Given the description of an element on the screen output the (x, y) to click on. 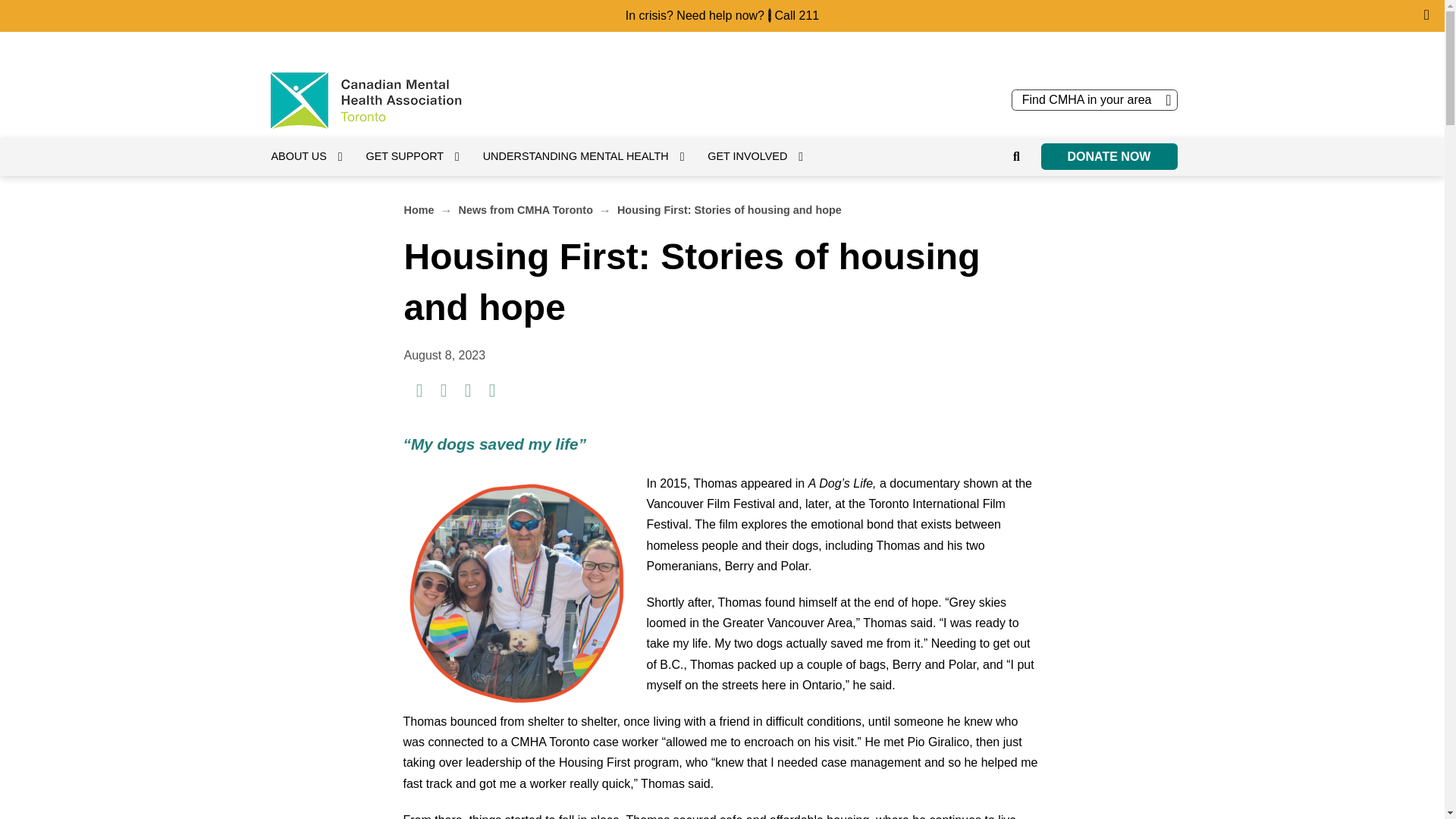
Call 211 (796, 15)
GET INVOLVED (762, 156)
GET SUPPORT (420, 156)
News from CMHA Toronto (525, 210)
Home (418, 210)
You Are Here (729, 210)
Housing First: Stories of housing and hope (729, 210)
ABOUT US (313, 156)
UNDERSTANDING MENTAL HEALTH (591, 156)
Find CMHA in your area (1094, 99)
